Given the description of an element on the screen output the (x, y) to click on. 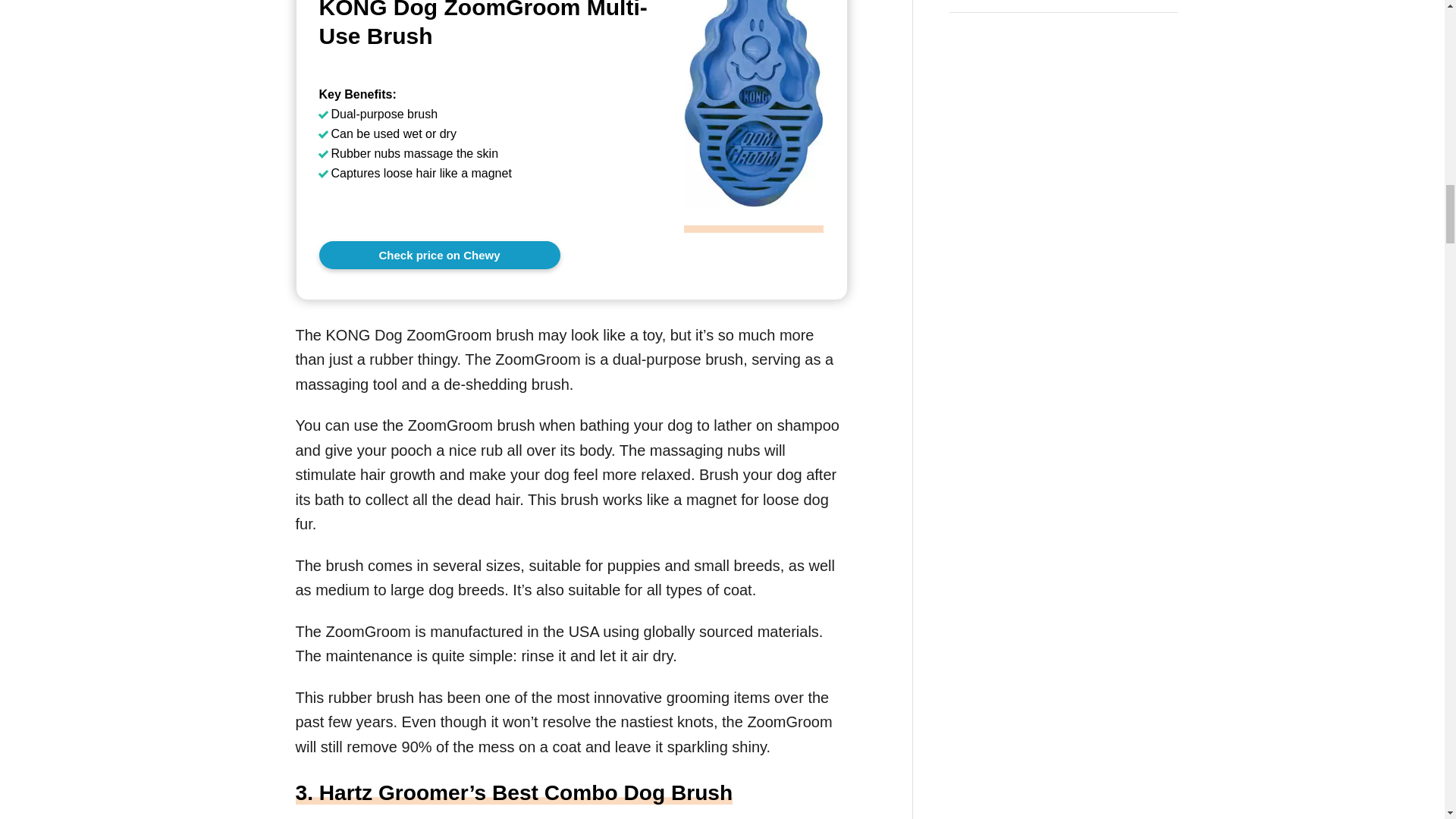
KONG Dog ZoomGroom Multi-Use Brush (754, 220)
KONG Dog ZoomGroom Multi-Use Brush (489, 24)
KONG Dog ZoomGroom Multi-Use Brush (489, 24)
KONG Dog ZoomGroom Multi-Use Brush (438, 254)
